Given the description of an element on the screen output the (x, y) to click on. 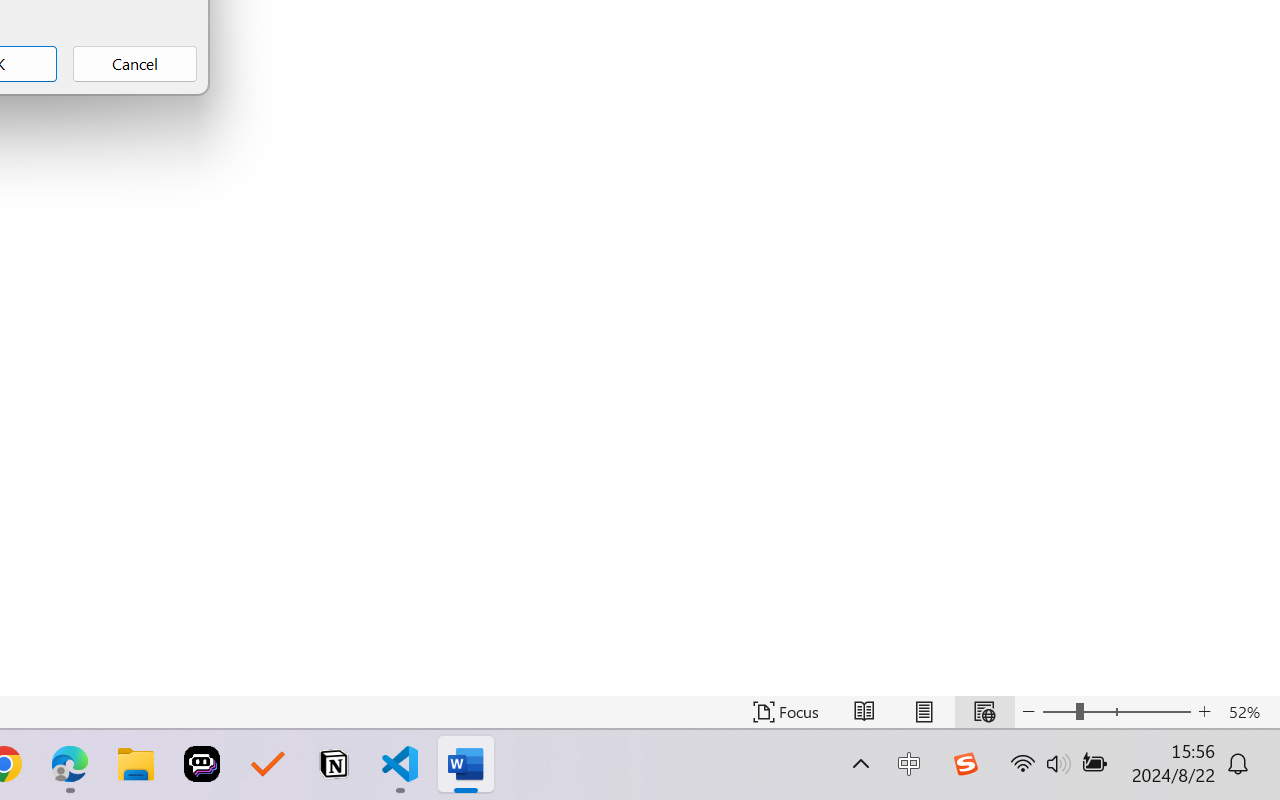
Focus  (786, 712)
Zoom In (1204, 712)
Class: Image (965, 764)
Notion (333, 764)
